Given the description of an element on the screen output the (x, y) to click on. 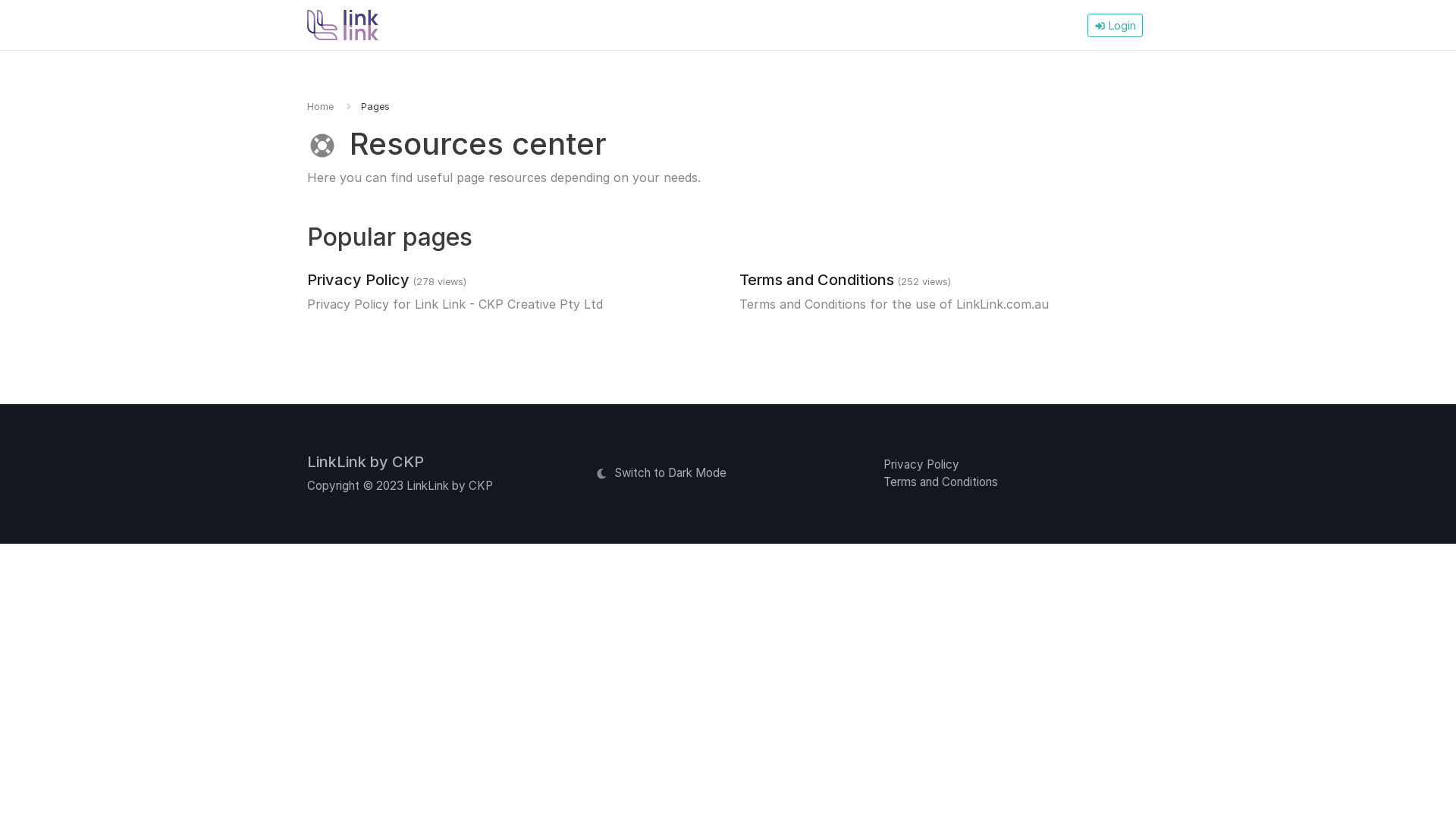
Terms and Conditions Element type: text (816, 279)
Login Element type: text (1114, 25)
Privacy Policy Element type: text (921, 464)
Terms and Conditions Element type: text (940, 481)
Home Element type: text (320, 106)
LinkLink by CKP Element type: text (365, 461)
Privacy Policy Element type: text (358, 279)
Switch to Dark Mode Element type: text (660, 472)
